Given the description of an element on the screen output the (x, y) to click on. 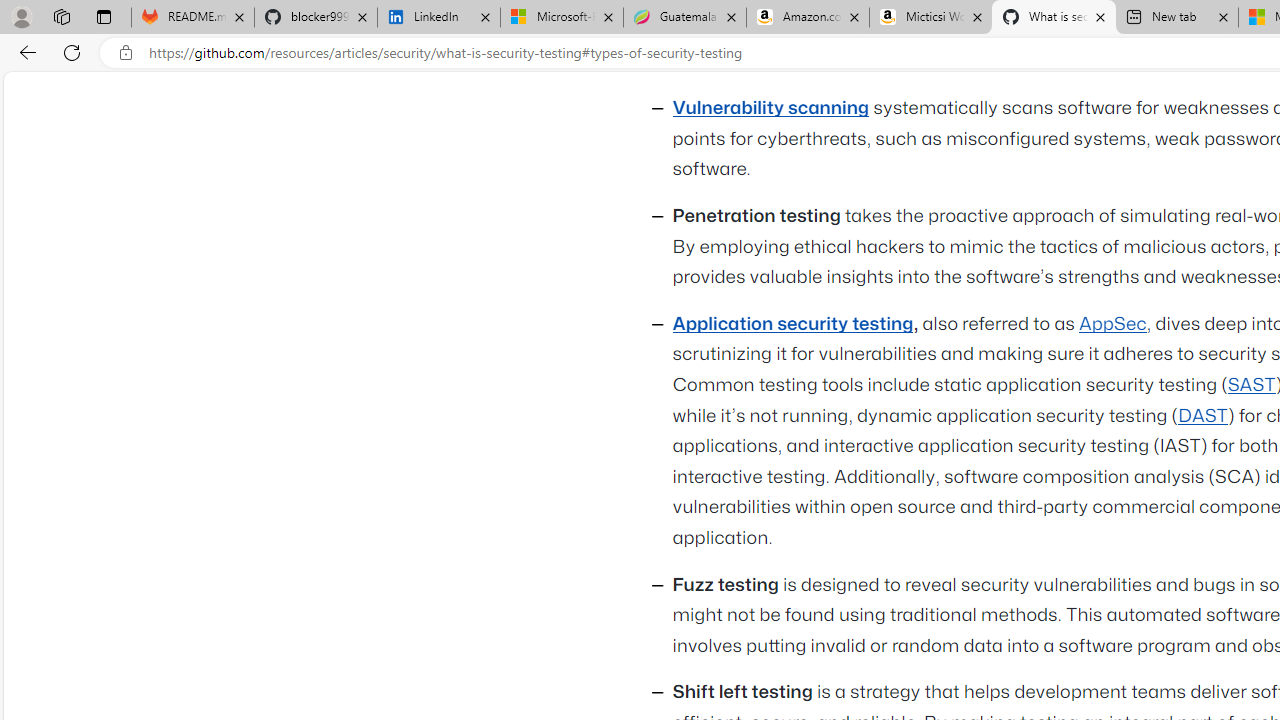
LinkedIn (438, 17)
DAST (1202, 415)
AppSec (1111, 323)
Vulnerability scanning (771, 109)
